Given the description of an element on the screen output the (x, y) to click on. 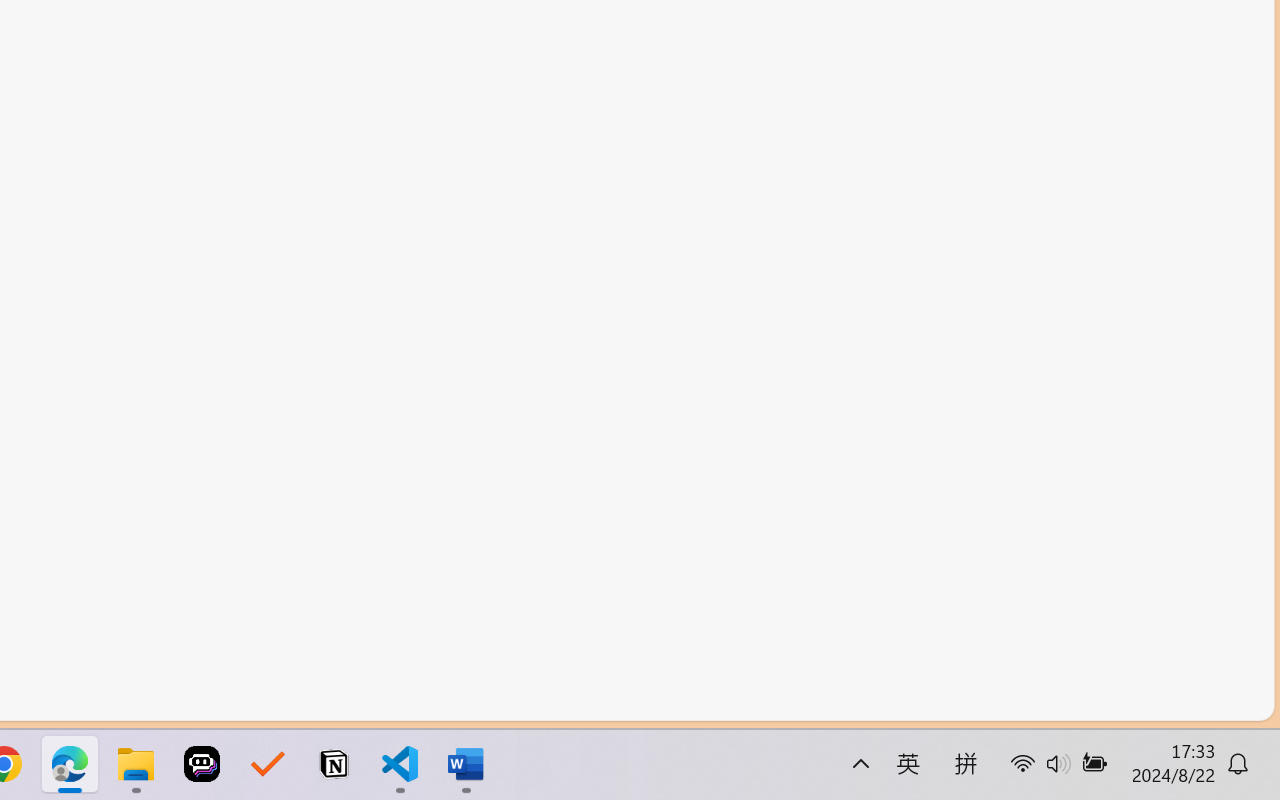
Notifications (537, 698)
copilot-notconnected, Copilot error (click for details) (481, 698)
